Given the description of an element on the screen output the (x, y) to click on. 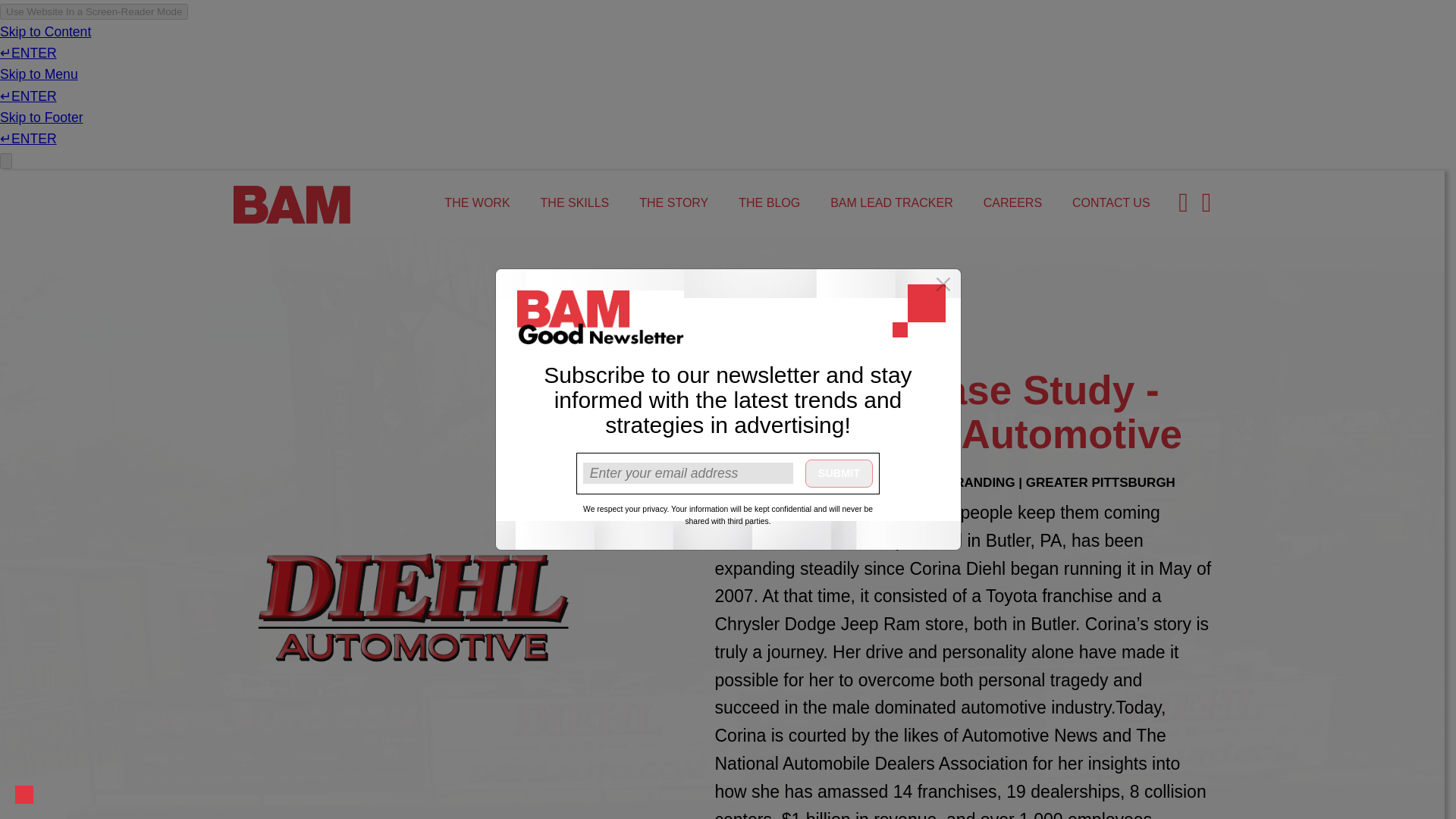
THE SKILLS (574, 203)
Submit (838, 473)
THE WORK (476, 203)
